Given the description of an element on the screen output the (x, y) to click on. 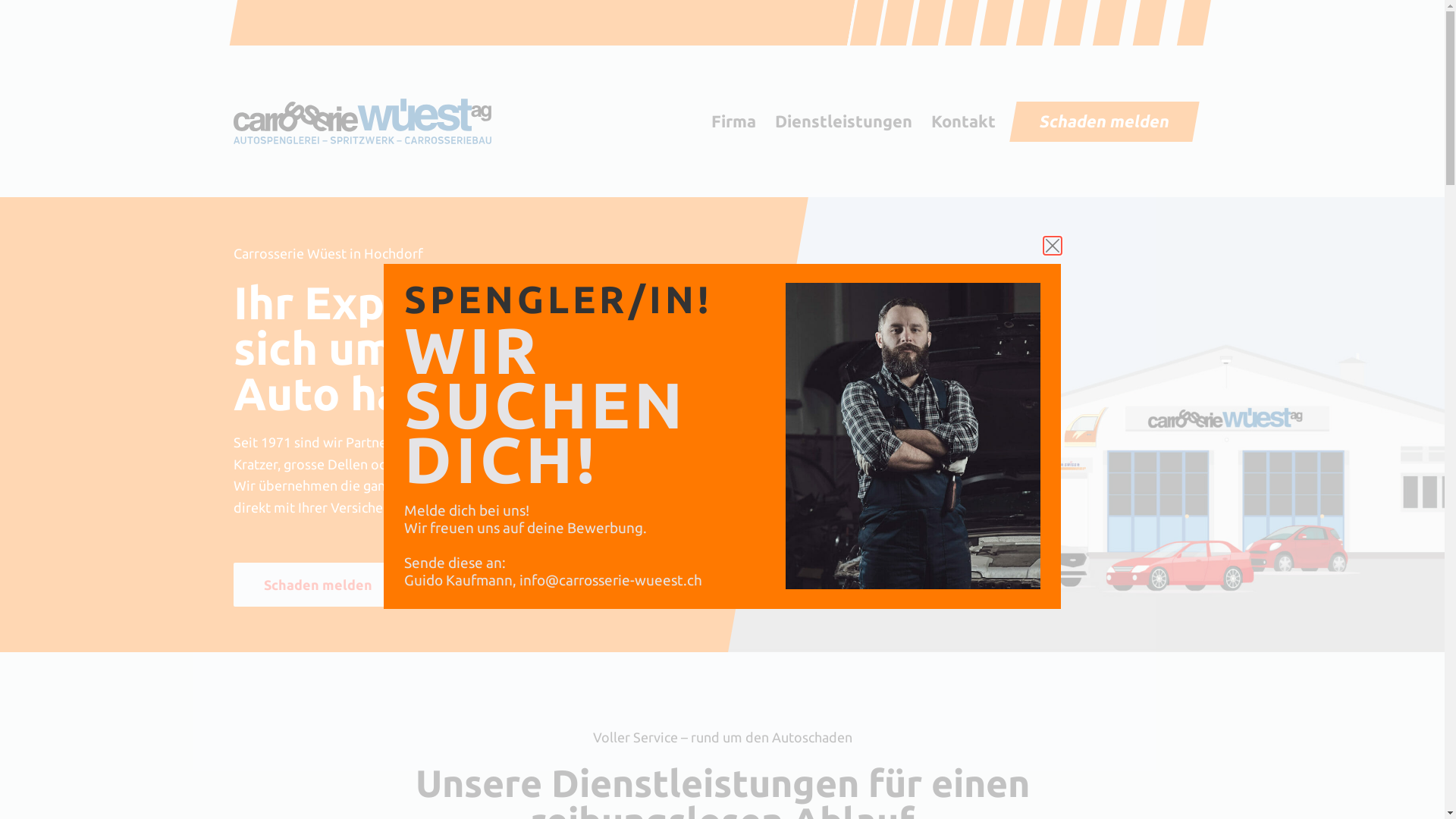
Dienstleistungen Element type: text (843, 121)
Kontakt Element type: text (963, 121)
Schaden melden Element type: text (317, 584)
Zum Inhalt springen Element type: text (15, 7)
Schaden melden Element type: text (1100, 121)
Firma Element type: text (733, 121)
